Given the description of an element on the screen output the (x, y) to click on. 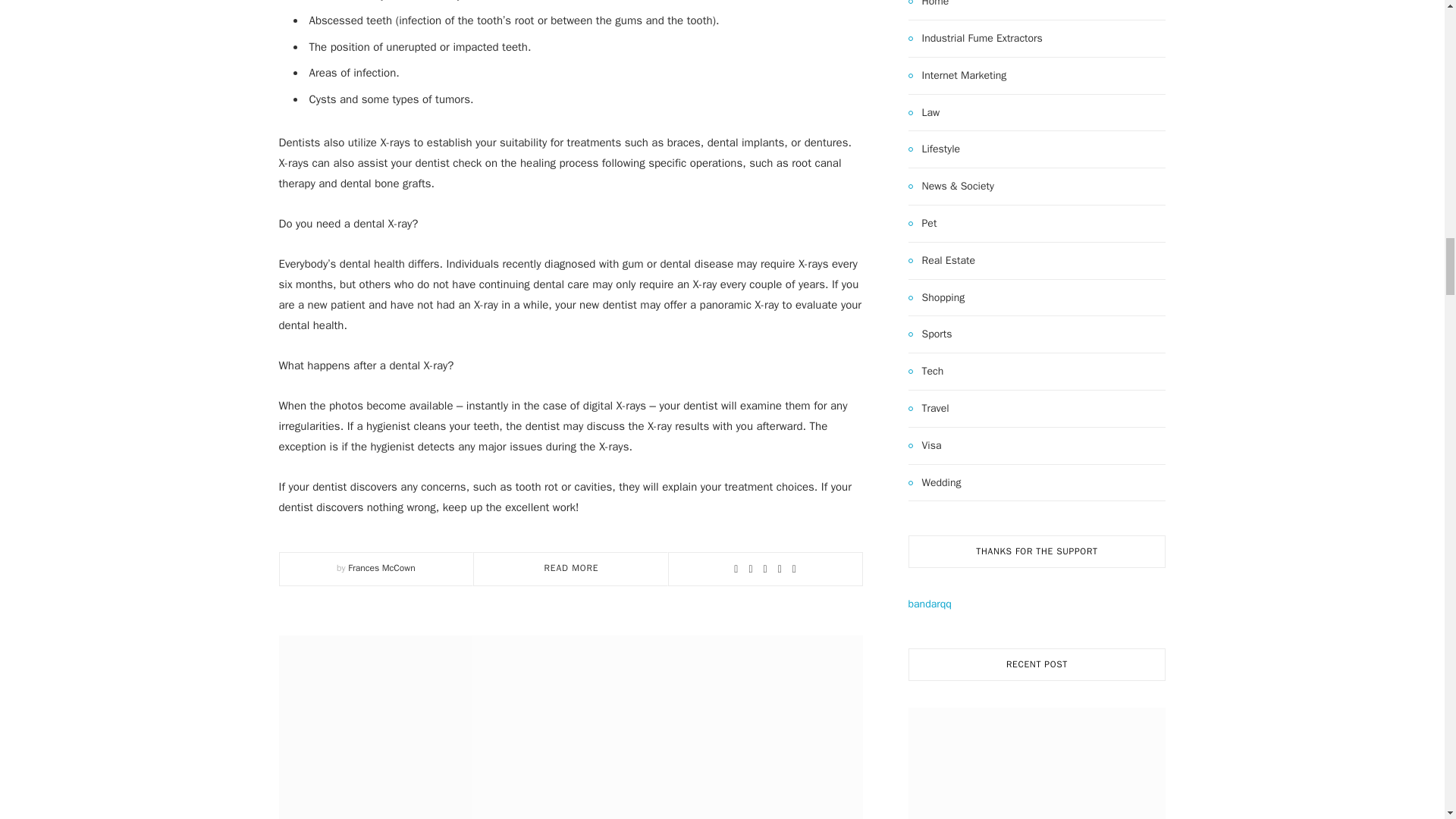
Posts by Frances McCown (380, 567)
Frances McCown (380, 567)
READ MORE (571, 567)
